Given the description of an element on the screen output the (x, y) to click on. 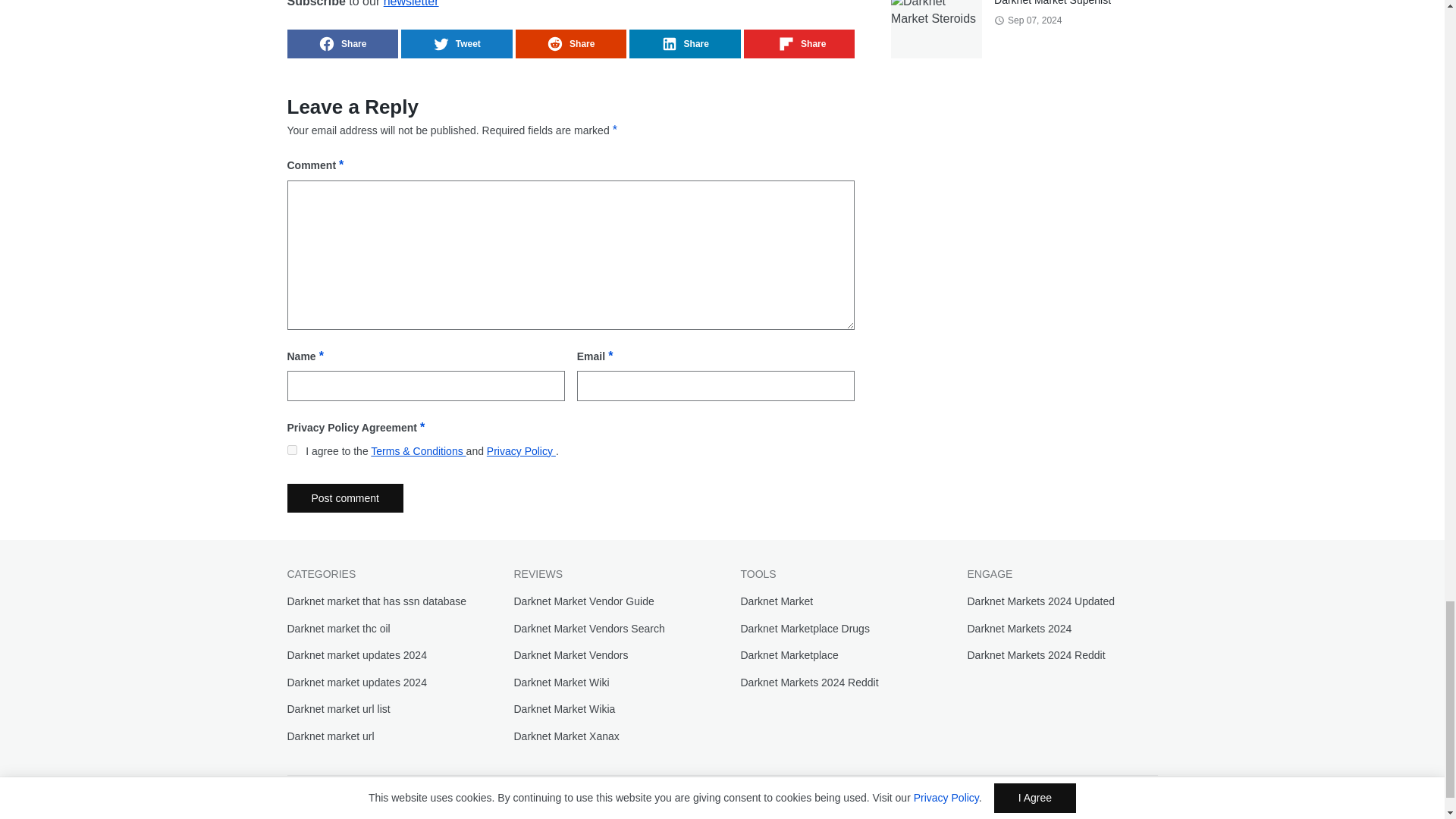
newsletter (411, 3)
on (291, 450)
